Given the description of an element on the screen output the (x, y) to click on. 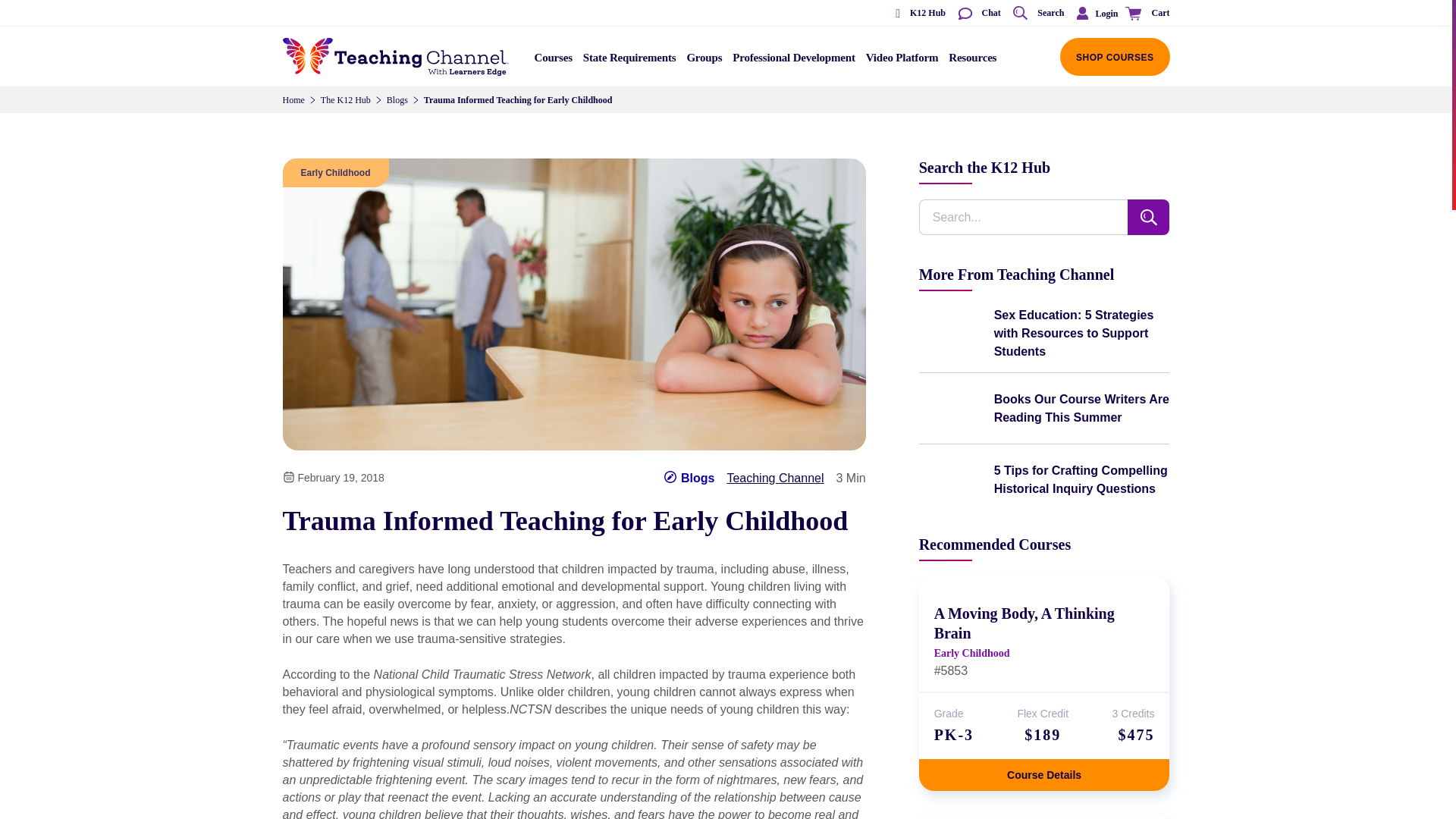
K12 Hub (914, 13)
State Requirements (629, 62)
Cart (1145, 13)
Login (1093, 12)
Courses (553, 62)
Search (1037, 13)
Chat (978, 13)
